Given the description of an element on the screen output the (x, y) to click on. 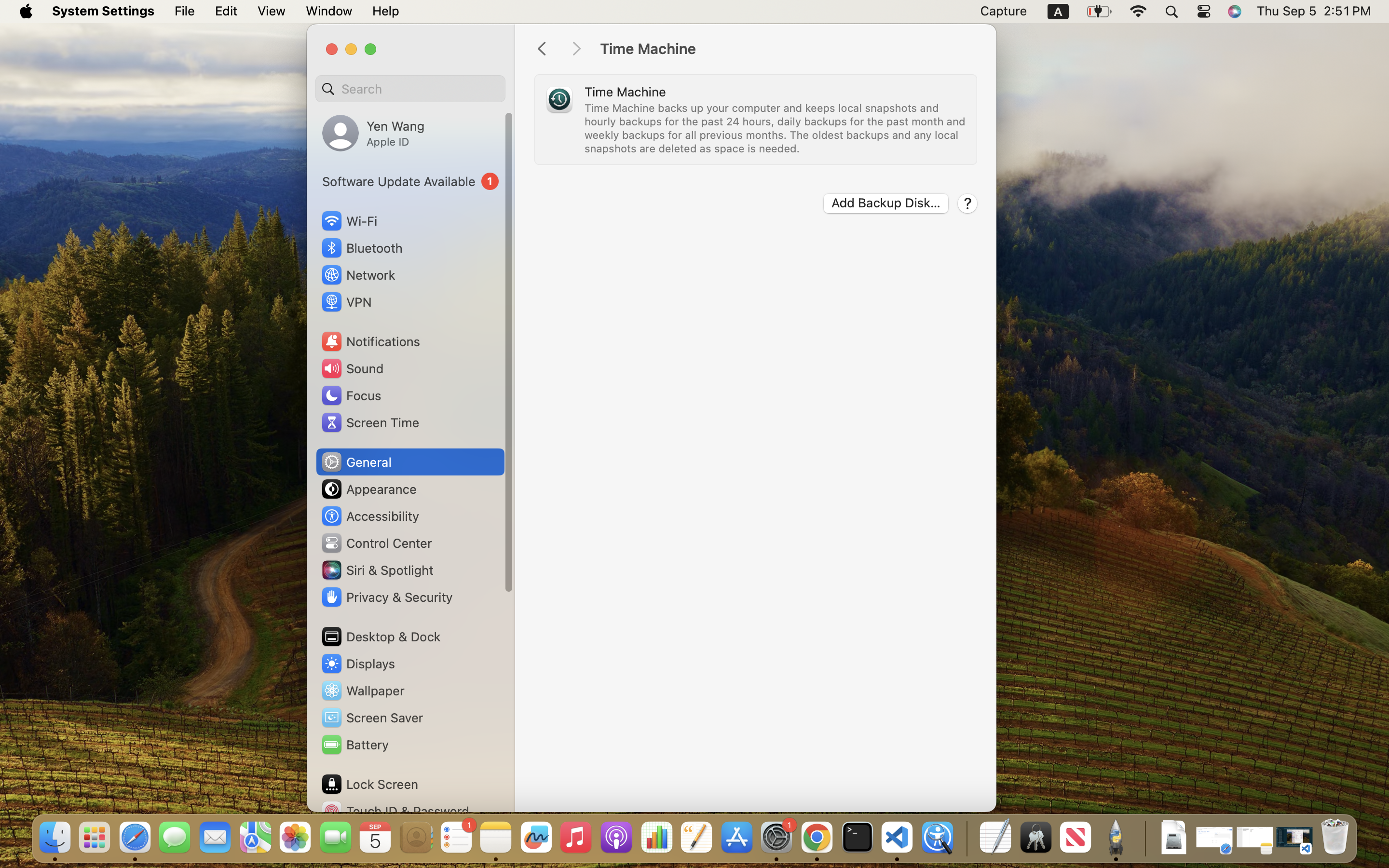
Battery Element type: AXStaticText (354, 744)
General Element type: AXStaticText (355, 461)
Appearance Element type: AXStaticText (368, 488)
Control Center Element type: AXStaticText (376, 542)
Screen Time Element type: AXStaticText (369, 422)
